Given the description of an element on the screen output the (x, y) to click on. 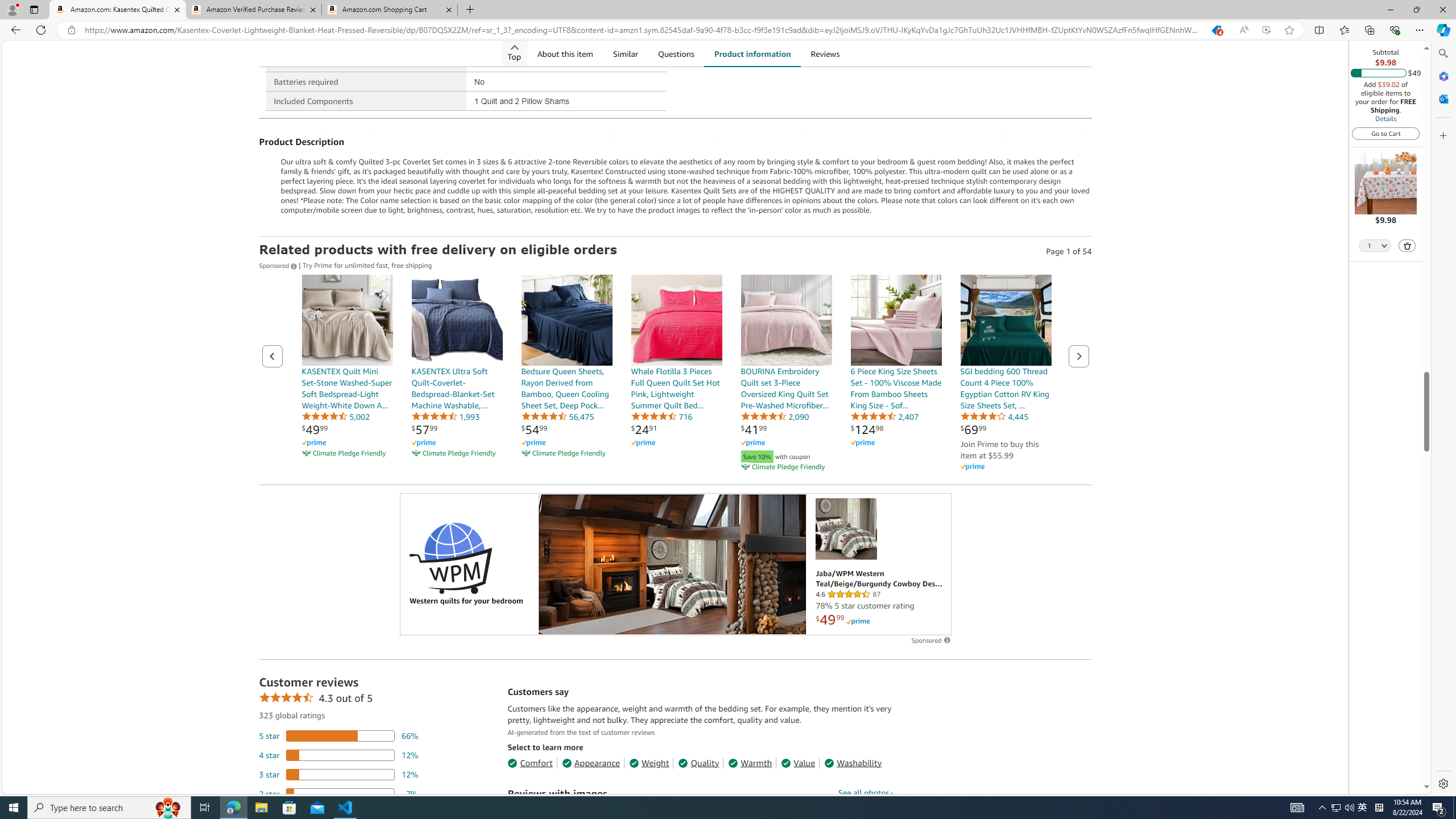
Similar (624, 53)
12 percent of reviews have 4 stars (339, 754)
716$24.91 (676, 373)
Comfort (529, 762)
Side bar (1443, 418)
Amazon Prime (1005, 466)
Outlook (1442, 98)
